Given the description of an element on the screen output the (x, y) to click on. 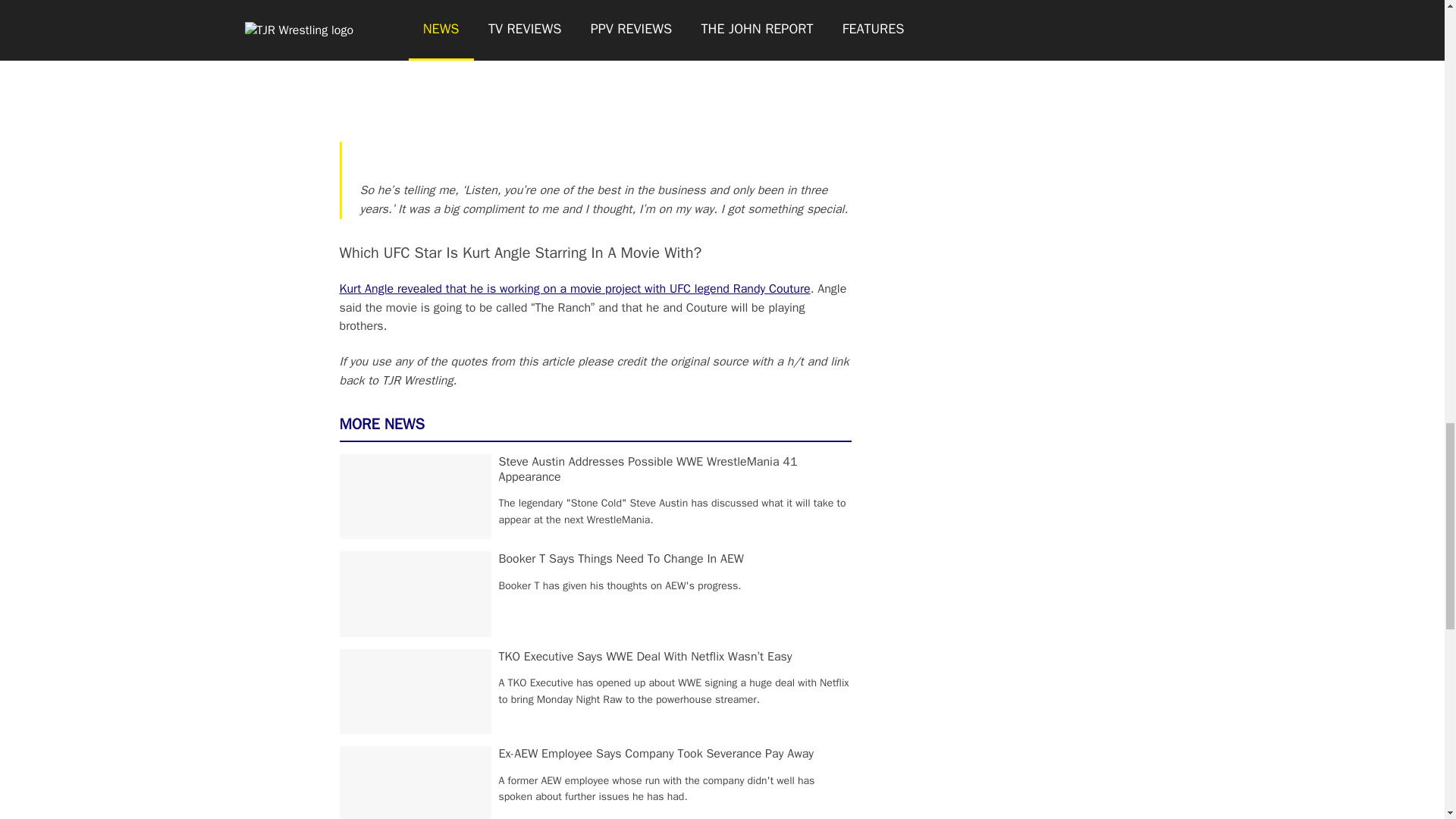
Ex-AEW Employee Says Company Took Severance Pay Away (656, 753)
Booker T Says Things Need To Change In AEW (621, 558)
